Given the description of an element on the screen output the (x, y) to click on. 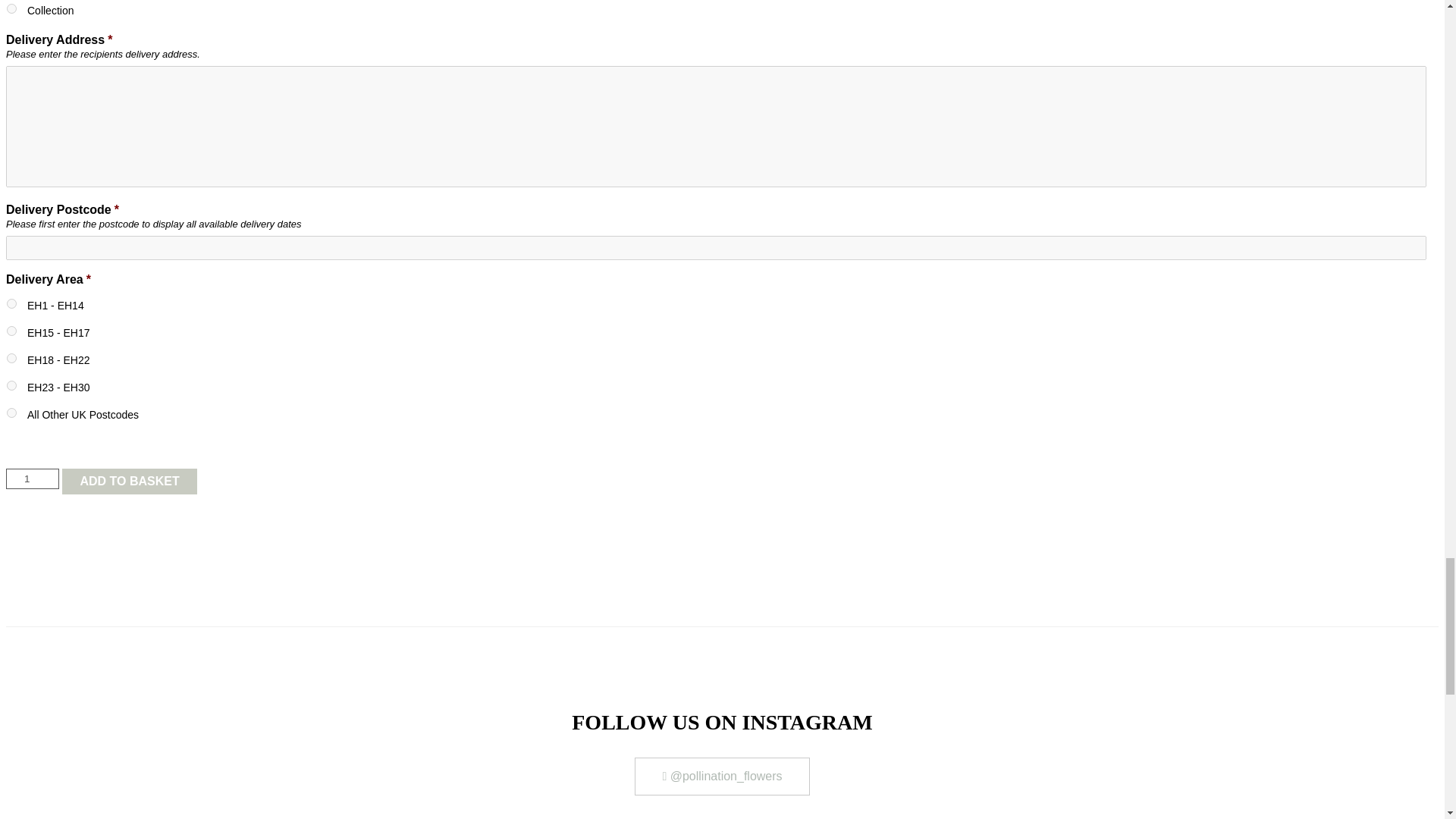
Collection (11, 8)
1 (32, 478)
Qty (32, 478)
